Given the description of an element on the screen output the (x, y) to click on. 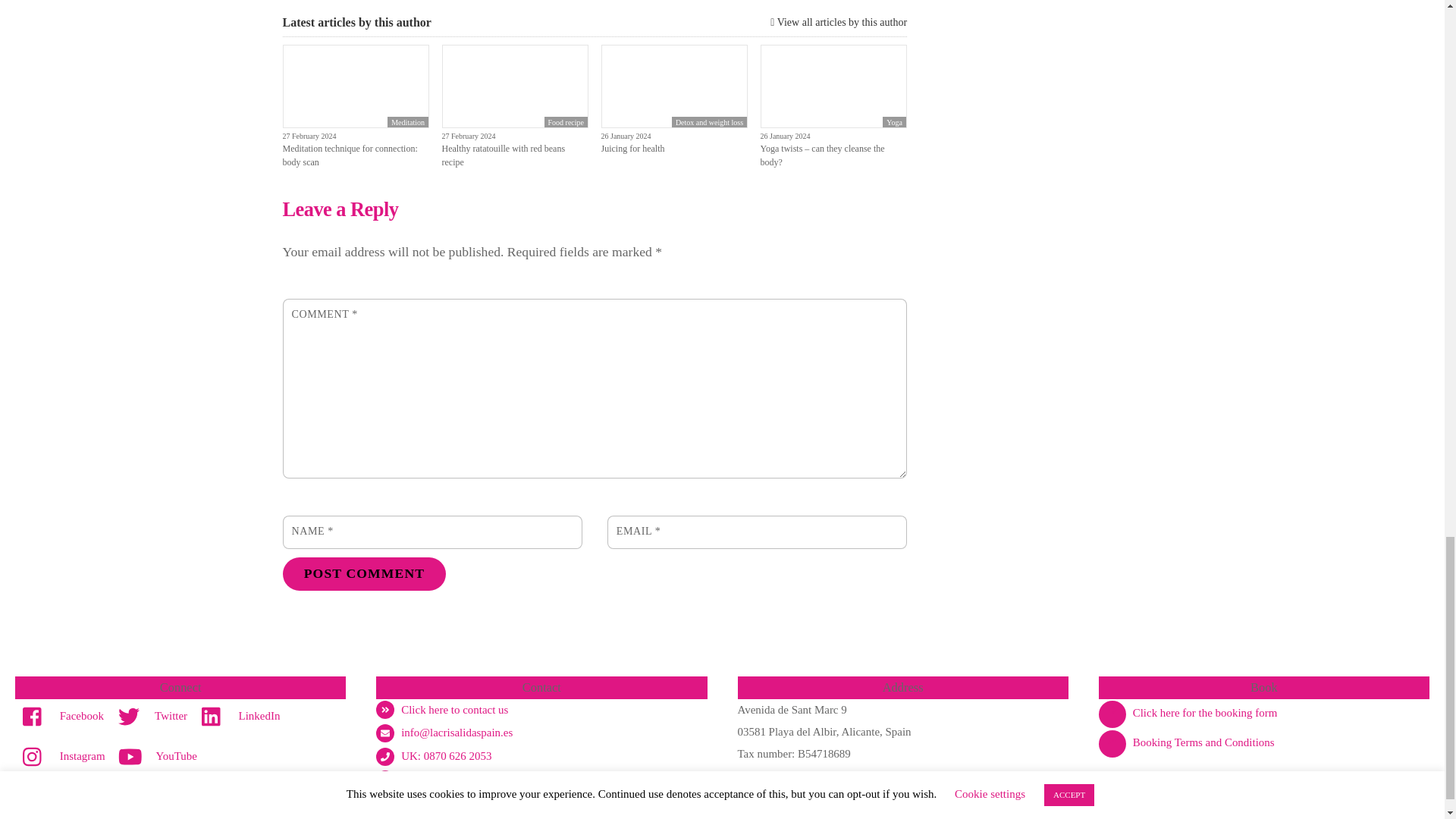
Post Comment (363, 573)
